Given the description of an element on the screen output the (x, y) to click on. 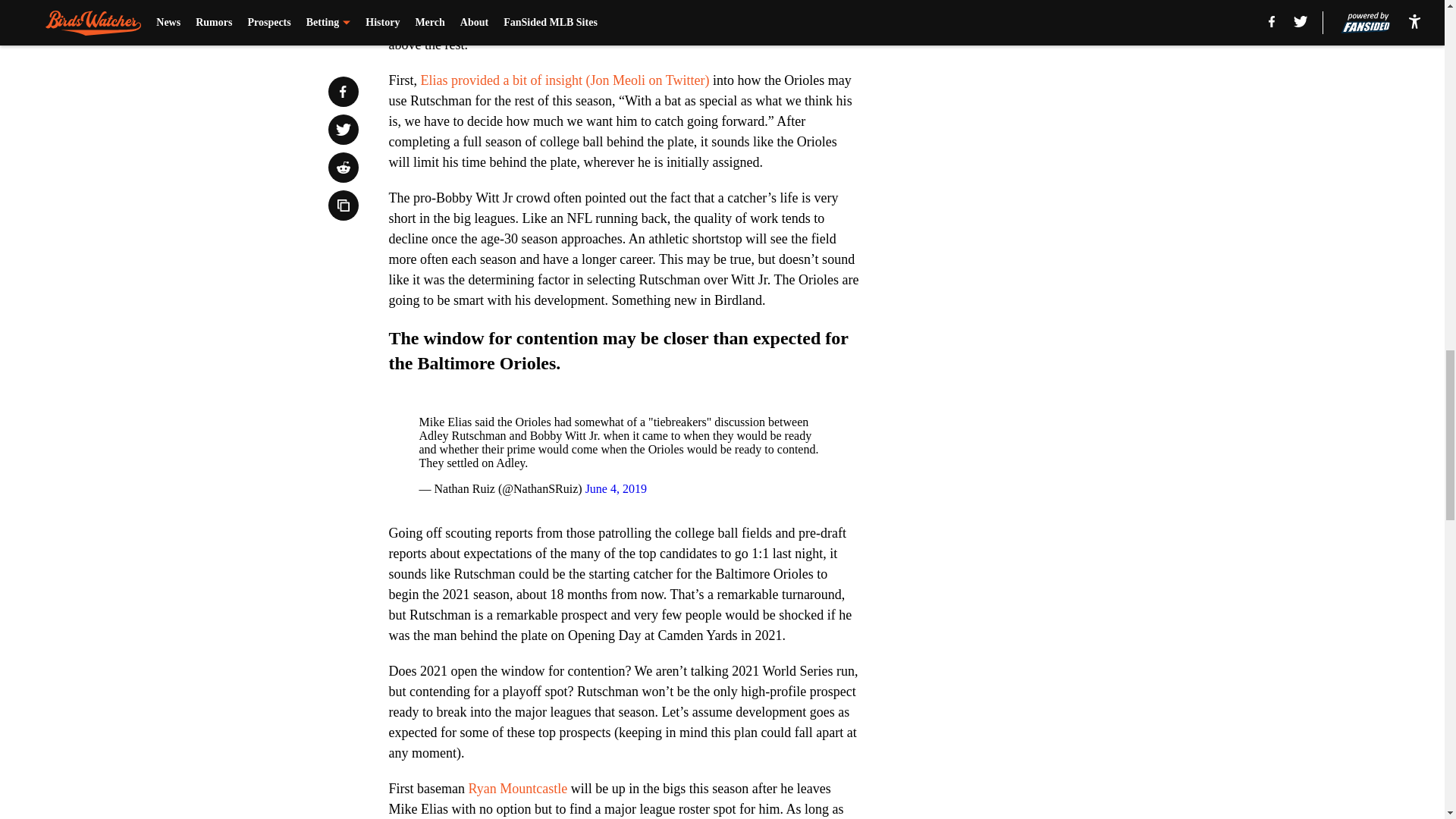
June 4, 2019 (615, 488)
Ryan Mountcastle (517, 788)
